Given the description of an element on the screen output the (x, y) to click on. 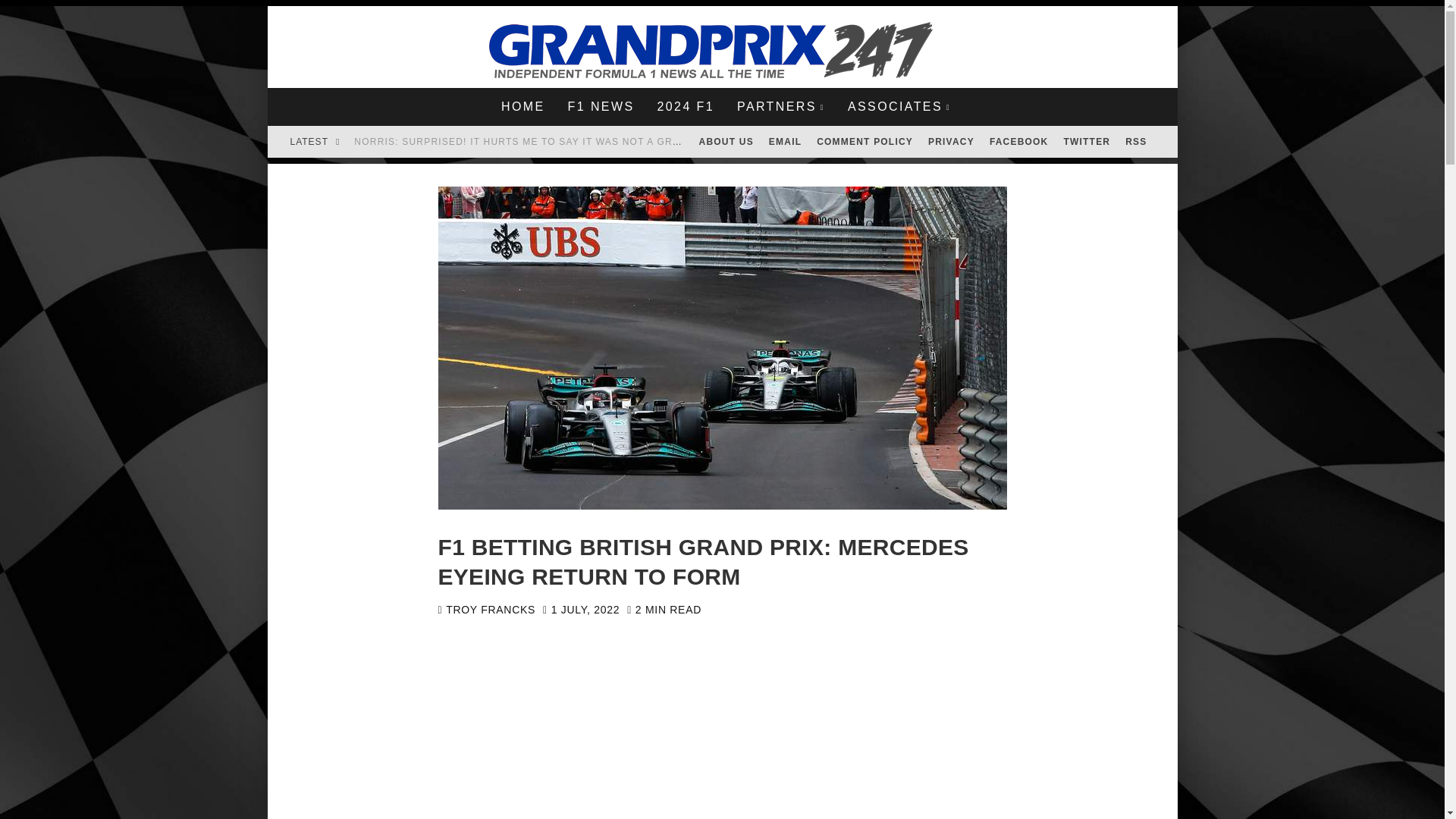
HOME (522, 106)
ABOUT US (726, 142)
PARTNERS (780, 106)
RSS (1136, 142)
ASSOCIATES (898, 106)
EMAIL (785, 142)
PRIVACY (950, 142)
TWITTER (1086, 142)
2024 F1 (685, 106)
F1 NEWS (601, 106)
